Given the description of an element on the screen output the (x, y) to click on. 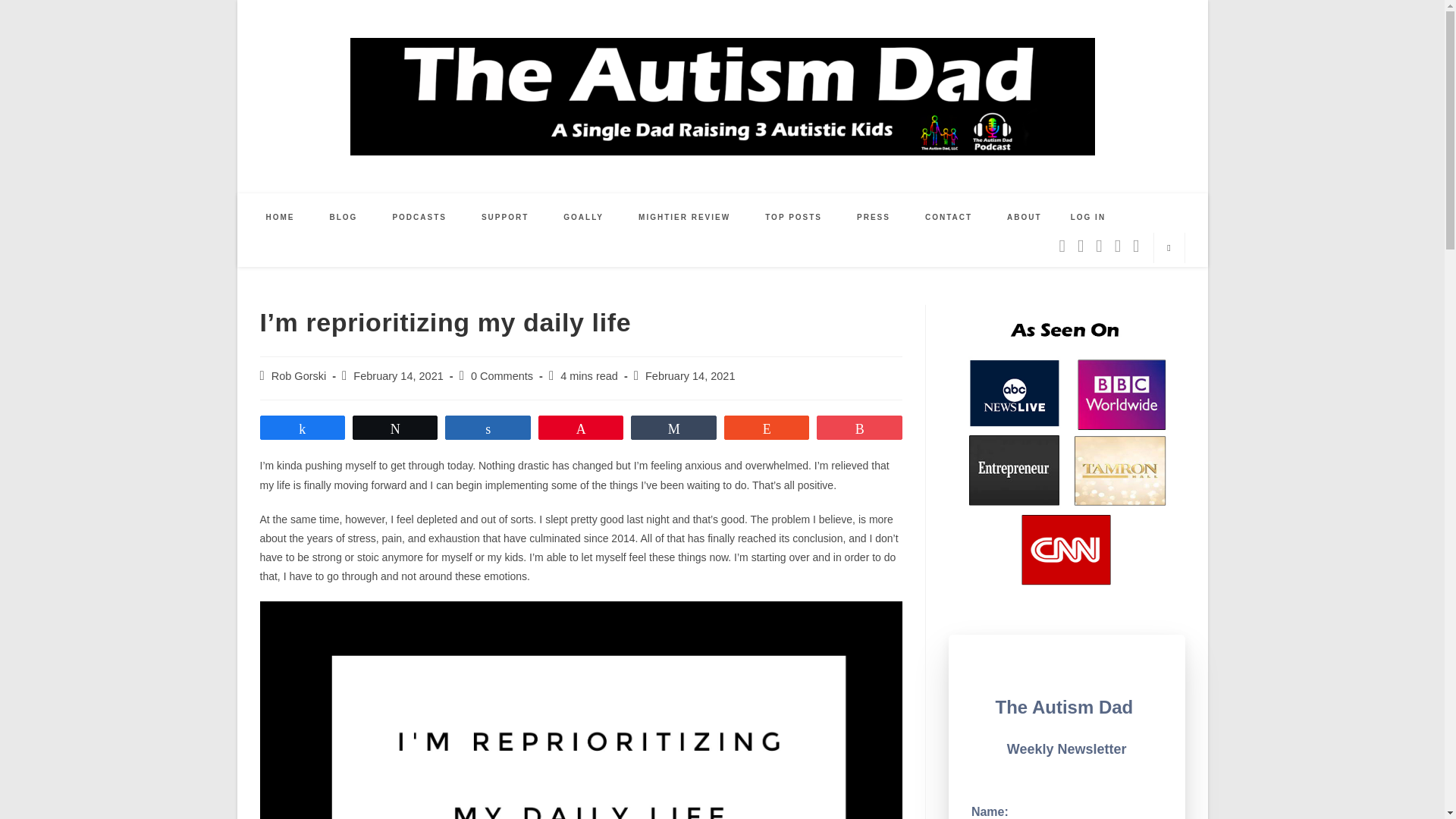
TOP POSTS (794, 217)
SUPPORT (505, 217)
ABOUT (1024, 217)
BLOG (344, 217)
Rob Gorski (298, 376)
CONTACT (948, 217)
Posts by Rob Gorski (298, 376)
PODCASTS (419, 217)
LOG IN (1087, 217)
GOALLY (583, 217)
MIGHTIER REVIEW (684, 217)
HOME (280, 217)
PRESS (873, 217)
0 Comments (501, 376)
